Given the description of an element on the screen output the (x, y) to click on. 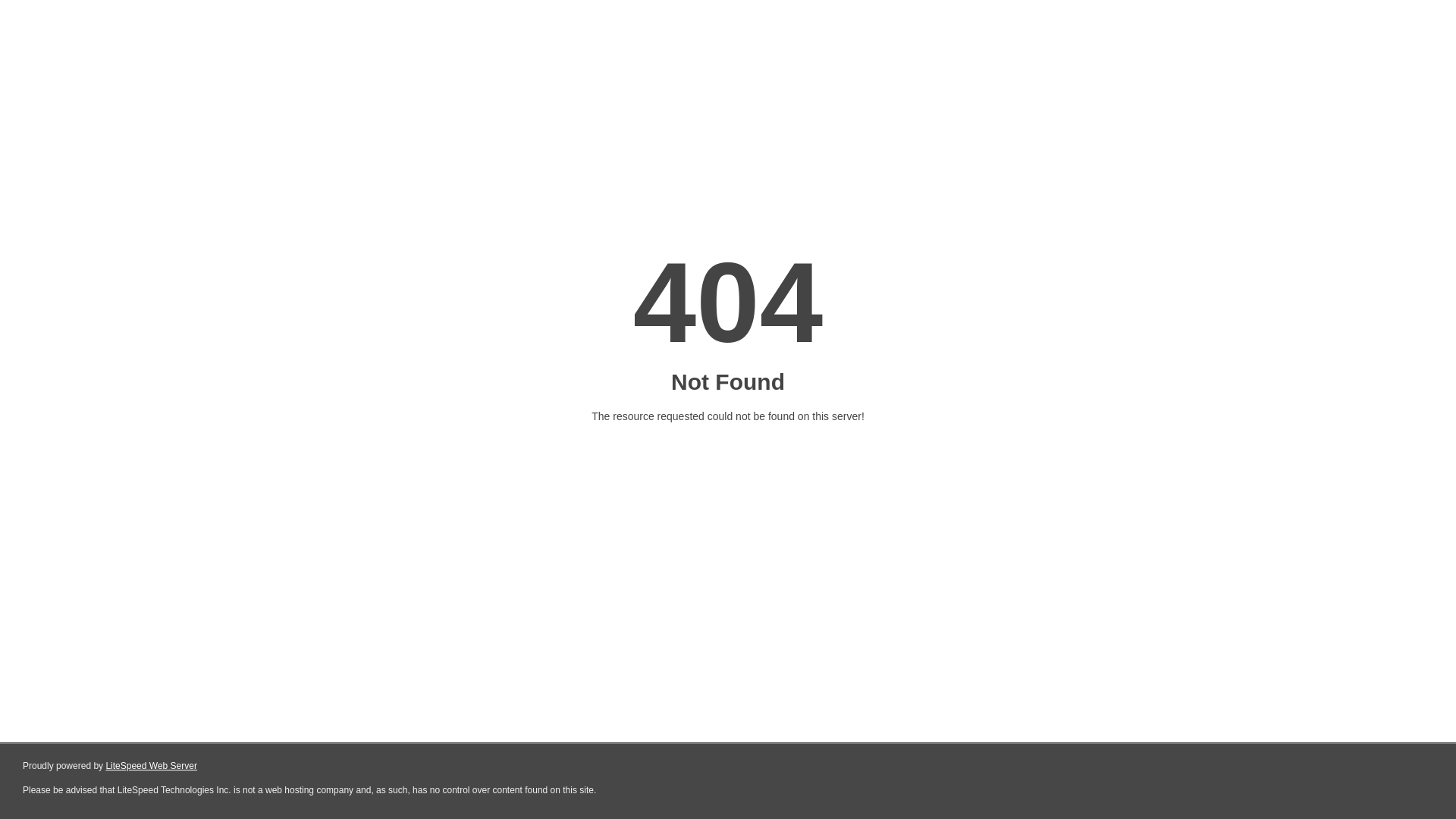
LiteSpeed Web Server Element type: text (151, 765)
